Given the description of an element on the screen output the (x, y) to click on. 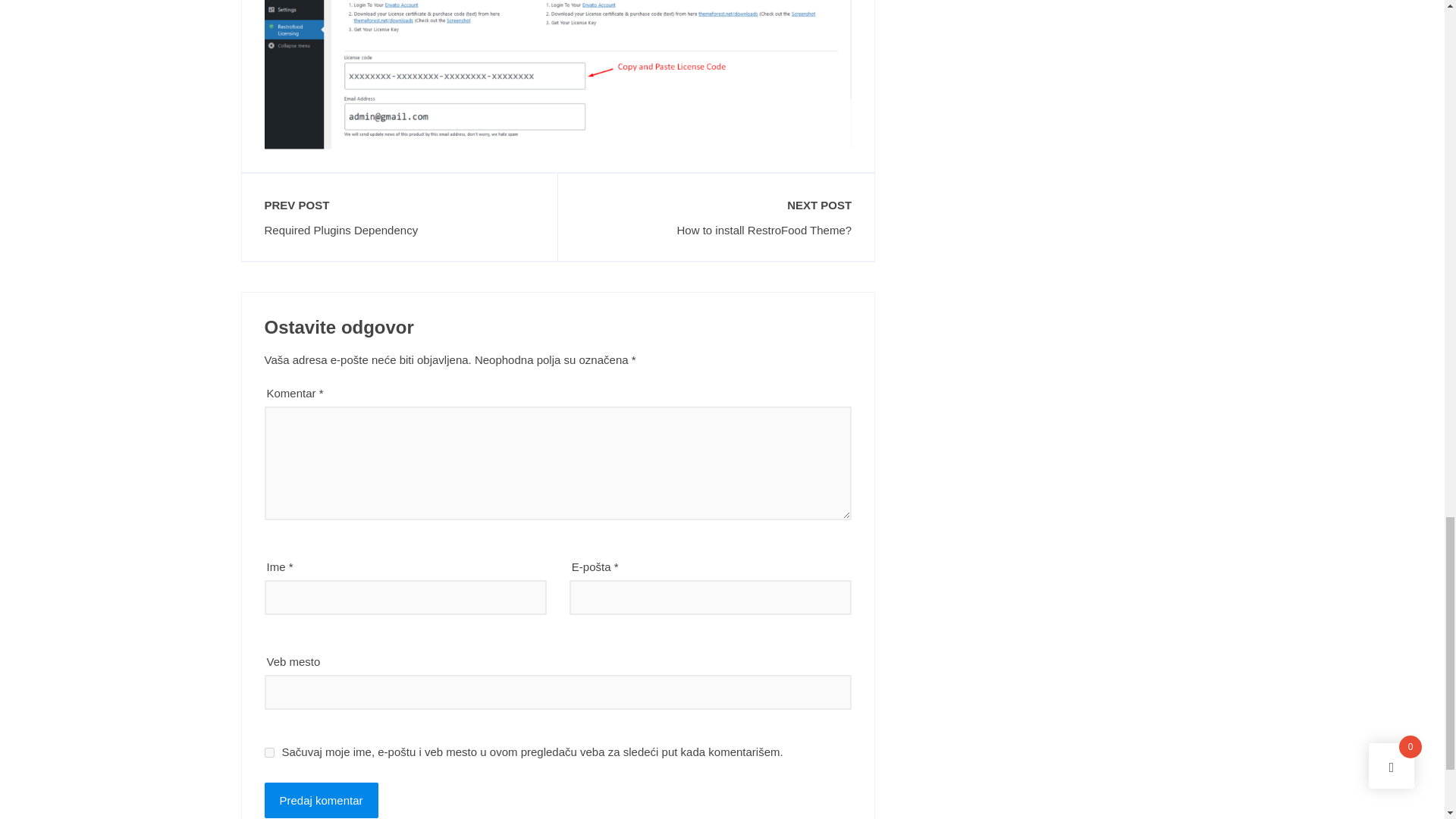
Predaj komentar (320, 800)
Predaj komentar (320, 800)
Required Plugins Dependency (398, 229)
yes (268, 752)
How to install RestroFood Theme? (715, 229)
